Given the description of an element on the screen output the (x, y) to click on. 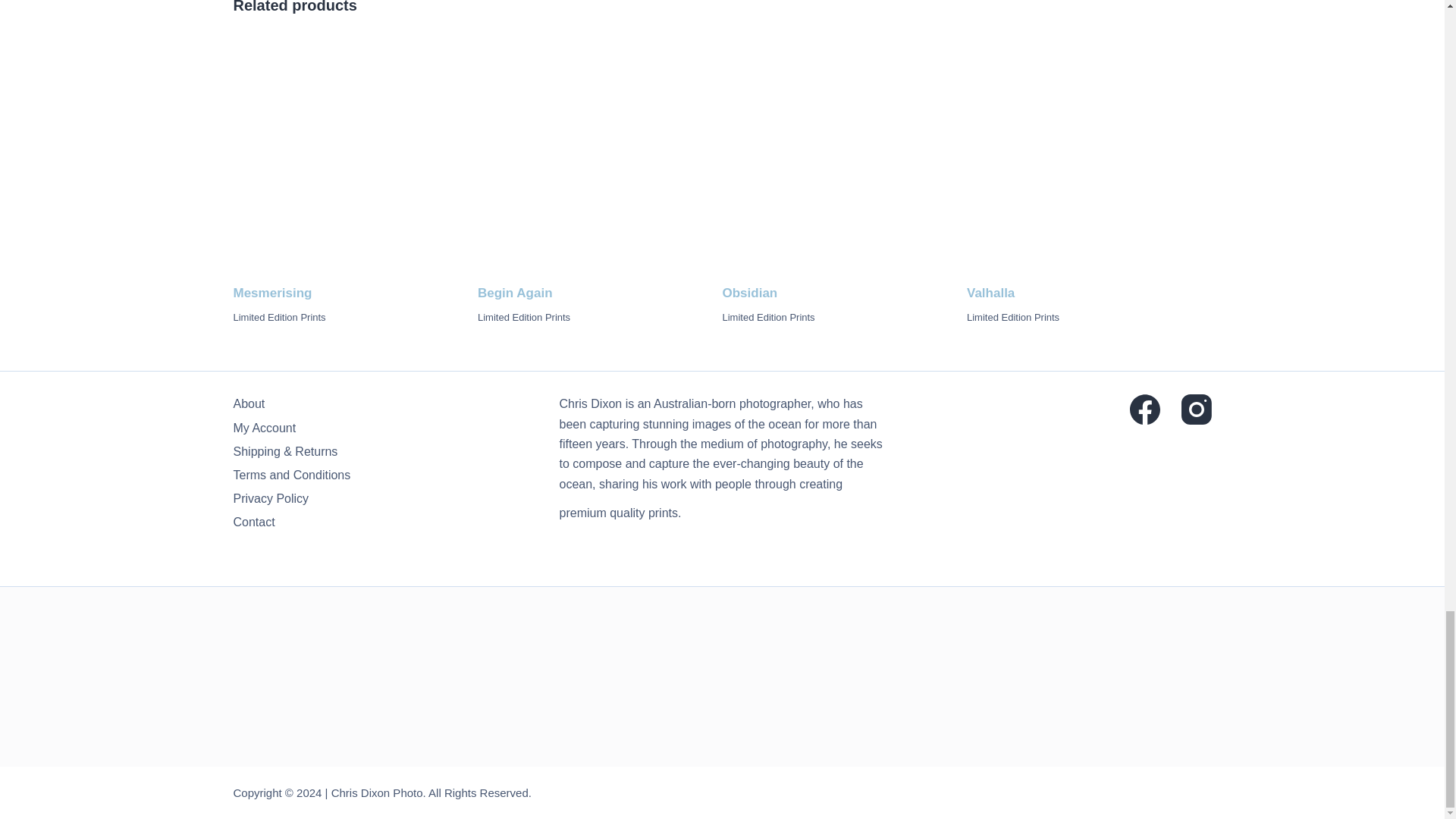
Mesmerising (355, 161)
Valhalla (1088, 161)
Begin-Again (599, 161)
Obsidian (844, 161)
